Given the description of an element on the screen output the (x, y) to click on. 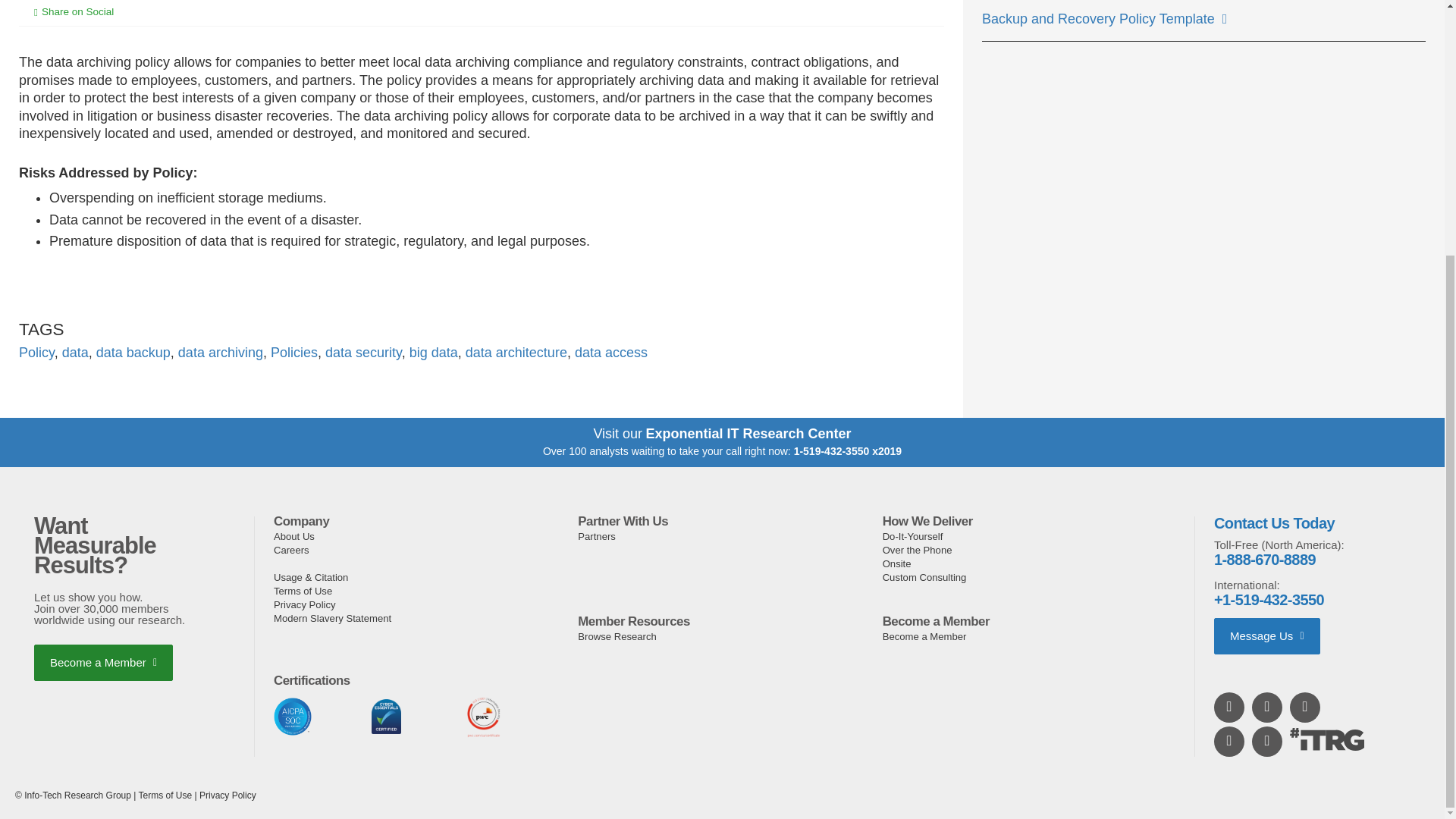
Folow us on Twitter (1305, 707)
Watch us on YouTube (1267, 707)
Folow us on TikTok (1267, 740)
Hashtag ITRG icon (1327, 739)
Share on Social (85, 11)
Folow us on Instagram (1230, 740)
Find us on LinkedIn (1230, 707)
